Given the description of an element on the screen output the (x, y) to click on. 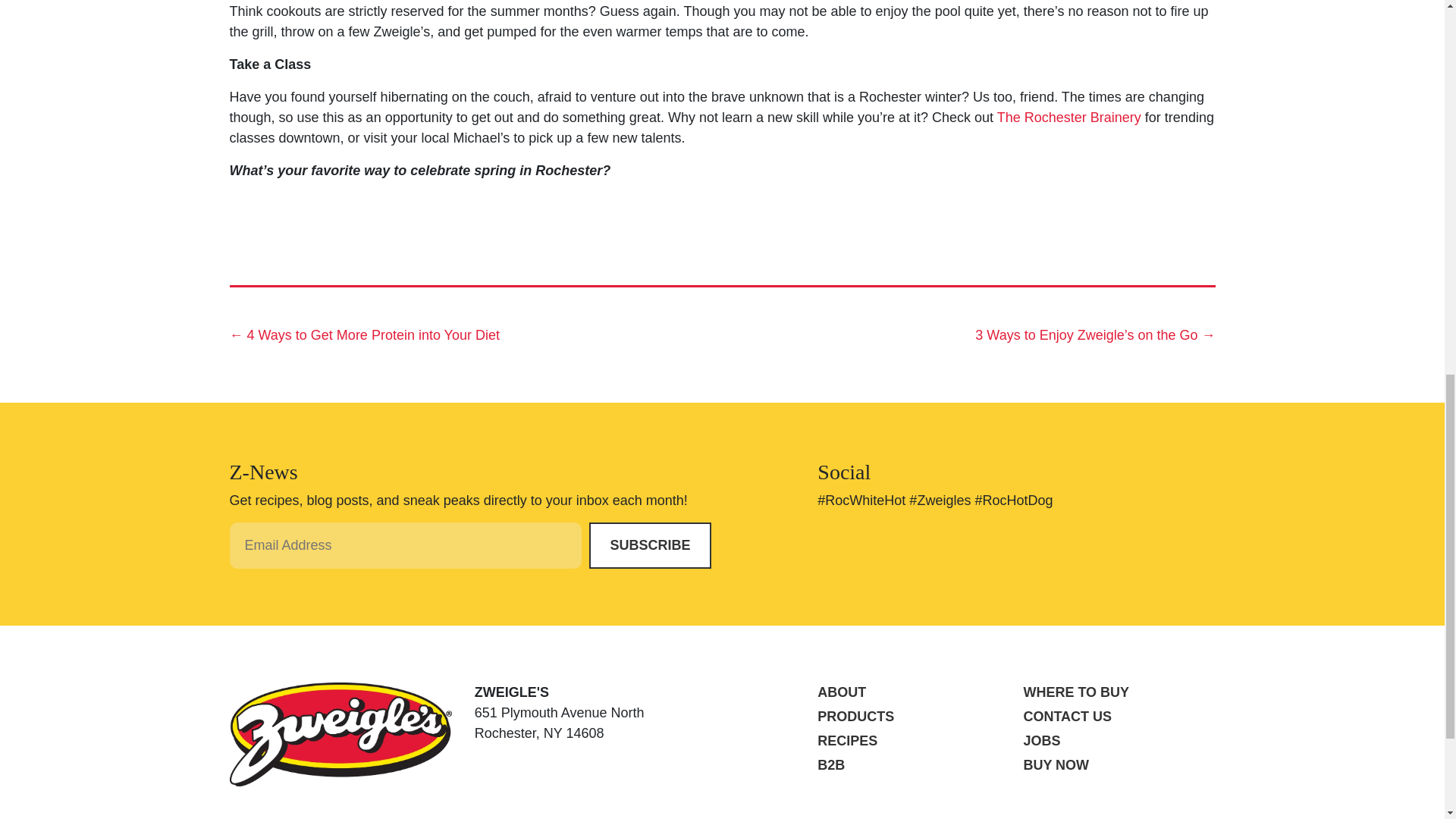
Subscribe (649, 545)
Share on Linkedin (333, 220)
Subscribe (649, 545)
Share on Twitter (290, 220)
The Rochester Brainery (1069, 117)
Share on Facebook (245, 220)
